Given the description of an element on the screen output the (x, y) to click on. 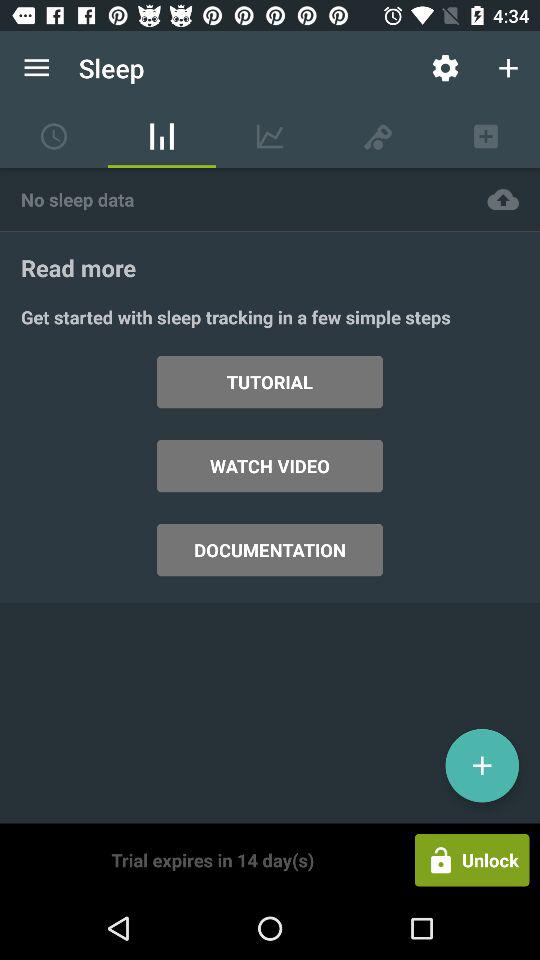
upload to cloud (503, 199)
